Given the description of an element on the screen output the (x, y) to click on. 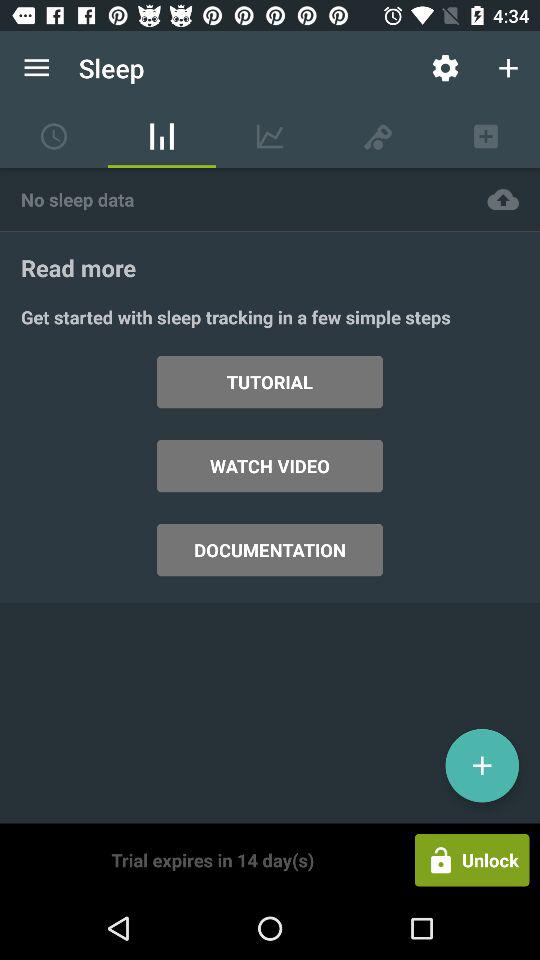
upload to cloud (503, 199)
